Given the description of an element on the screen output the (x, y) to click on. 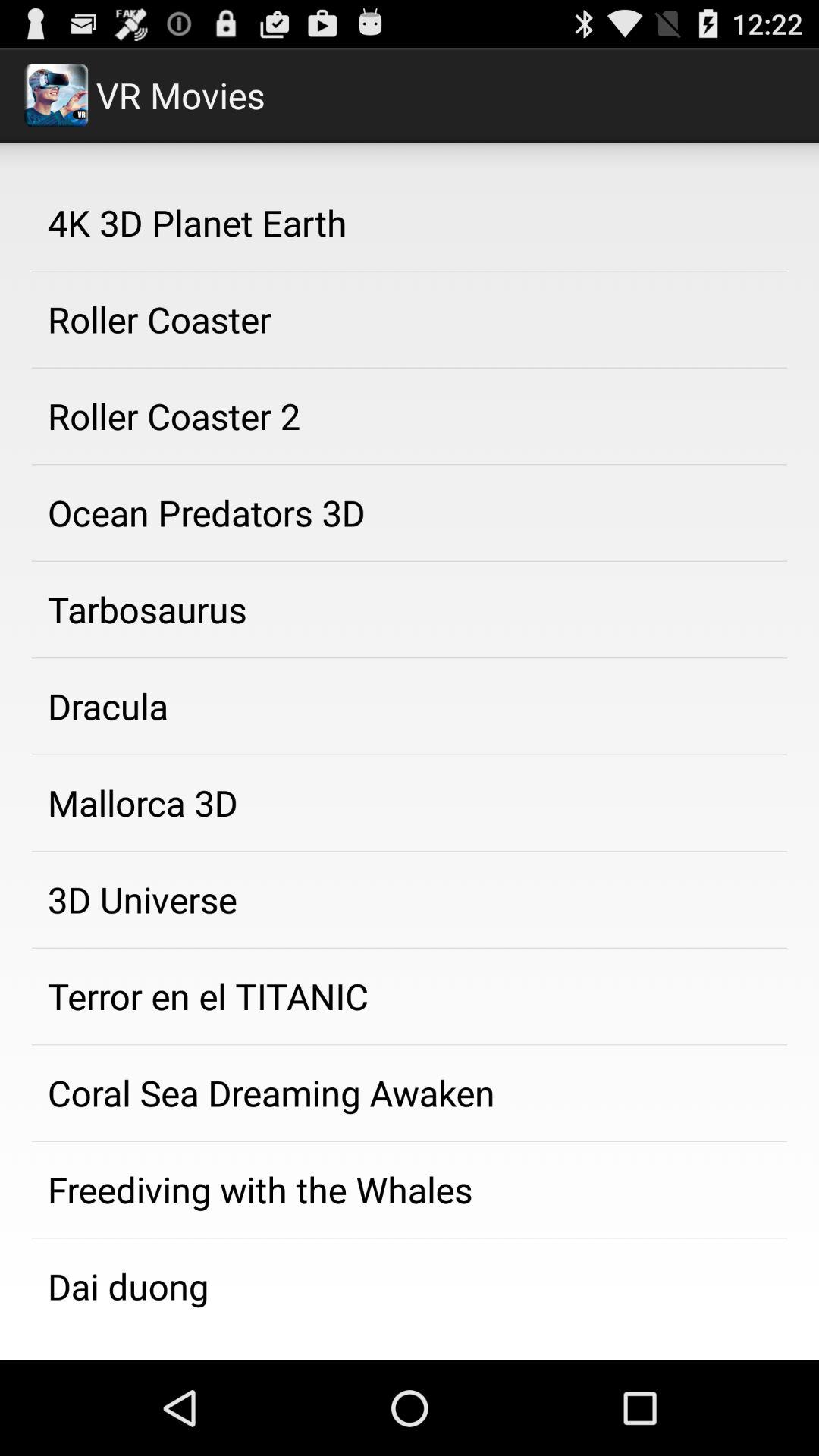
choose item above 3d universe item (409, 802)
